Given the description of an element on the screen output the (x, y) to click on. 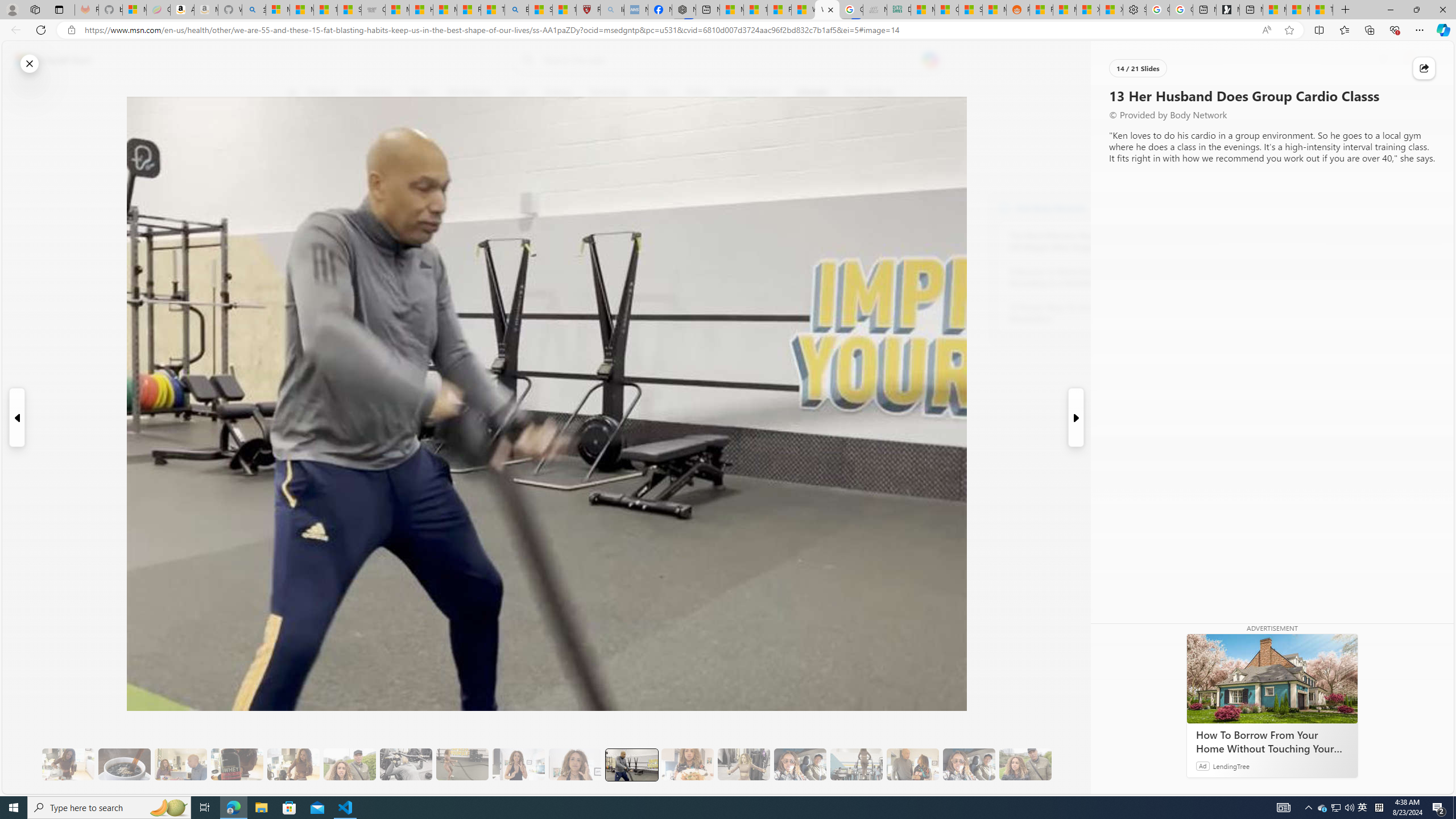
14 Common Myths Debunked By Scientific Facts (754, 9)
Recipes - MSN (469, 9)
6 Since Eating More Protein Her Training Has Improved (237, 764)
16 The Couple's Program Helps with Accountability (800, 764)
Visit Body Network website (1145, 207)
20 Overall, It Will Improve Your Health (1024, 764)
Open navigation menu (292, 92)
9 They Do Bench Exercises (406, 764)
Follow (518, 146)
Share this story (1423, 67)
